Given the description of an element on the screen output the (x, y) to click on. 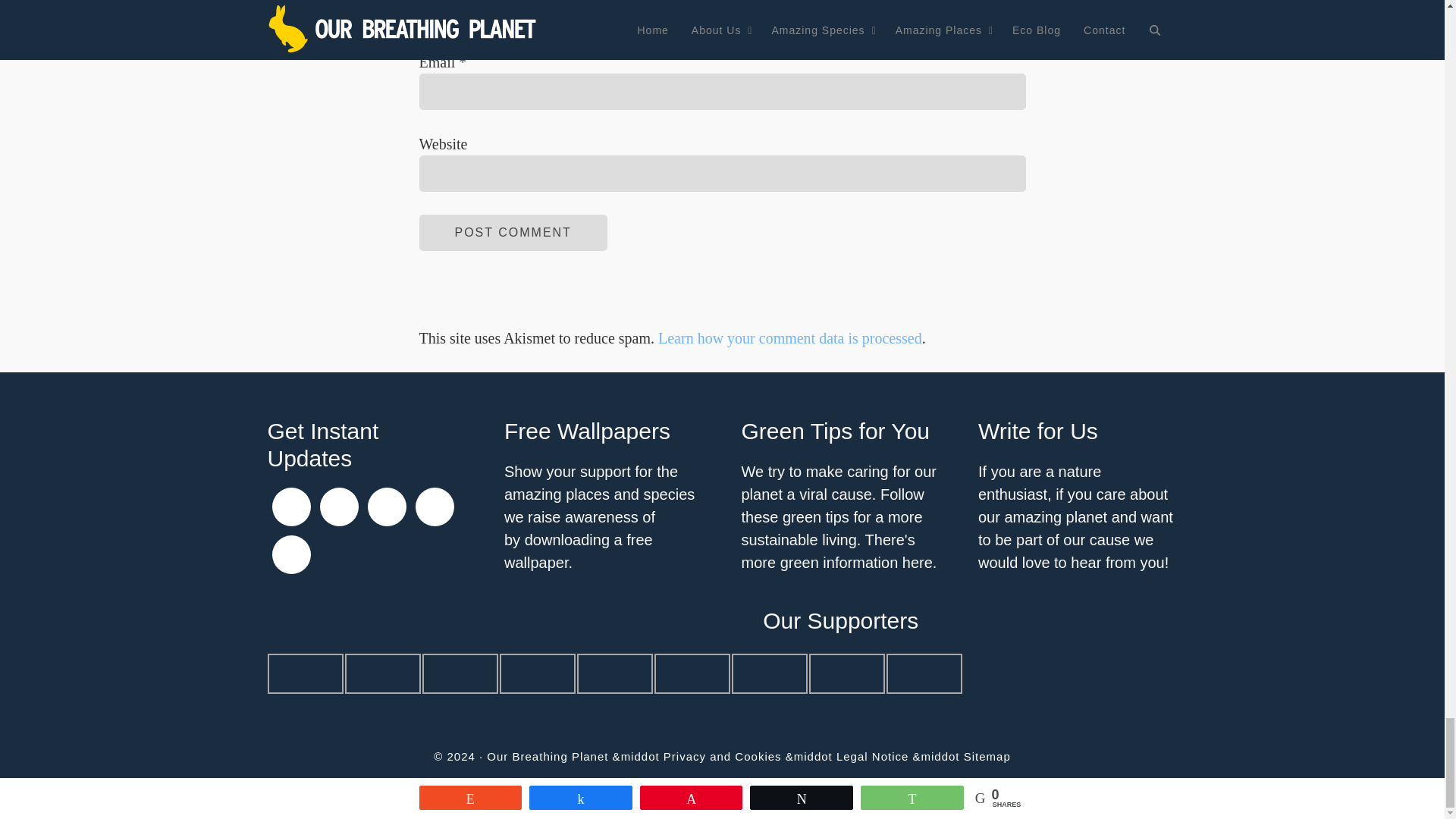
Post Comment (513, 232)
